Given the description of an element on the screen output the (x, y) to click on. 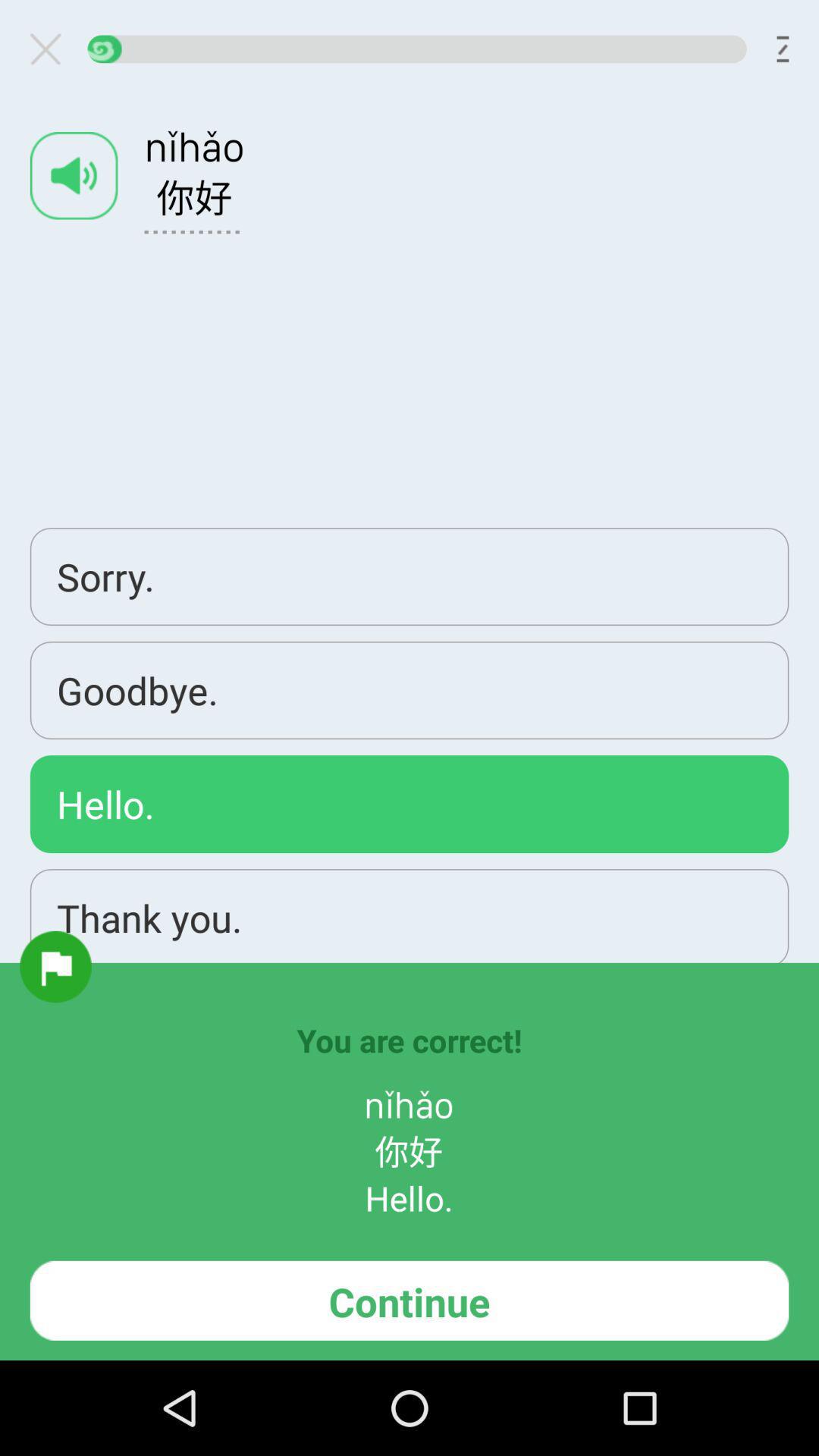
sound (73, 175)
